Given the description of an element on the screen output the (x, y) to click on. 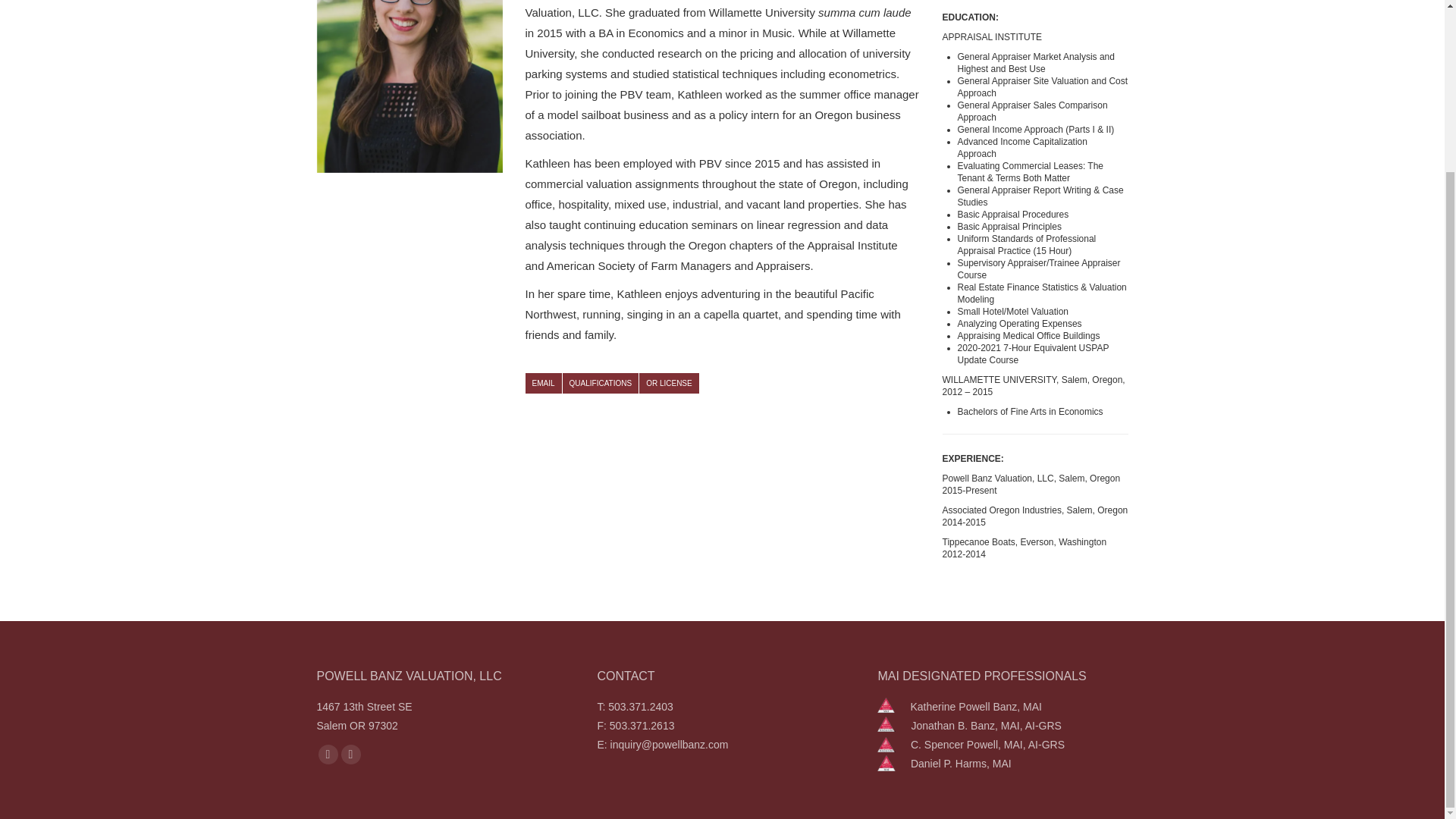
Team-Kathleen-Hendersen (409, 86)
Facebook page opens in new window (327, 754)
Linkedin page opens in new window (350, 754)
